Given the description of an element on the screen output the (x, y) to click on. 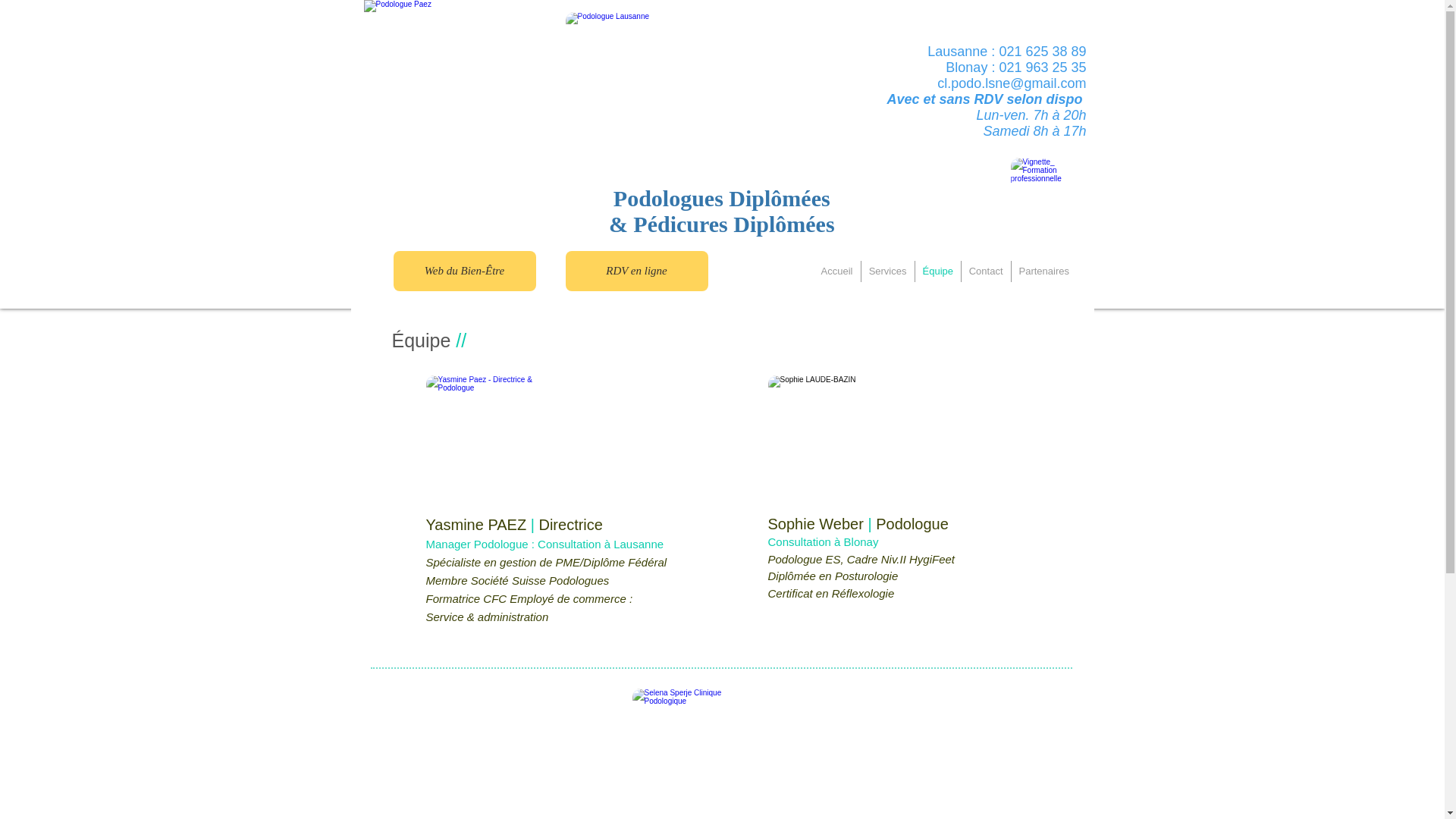
Lausanne : 021 625 38 89 Element type: text (1006, 51)
RDV en ligne Element type: text (636, 271)
Partenaires Element type: text (1043, 271)
Services Element type: text (887, 271)
Contact Element type: text (985, 271)
cl.podo.lsne@gmail.com Element type: text (1011, 83)
Blonay : 021 963 25 35 Element type: text (1015, 67)
Accueil Element type: text (835, 271)
Yasmine PAEZ  Element type: text (478, 524)
podologue paez Element type: hover (722, 76)
